Given the description of an element on the screen output the (x, y) to click on. 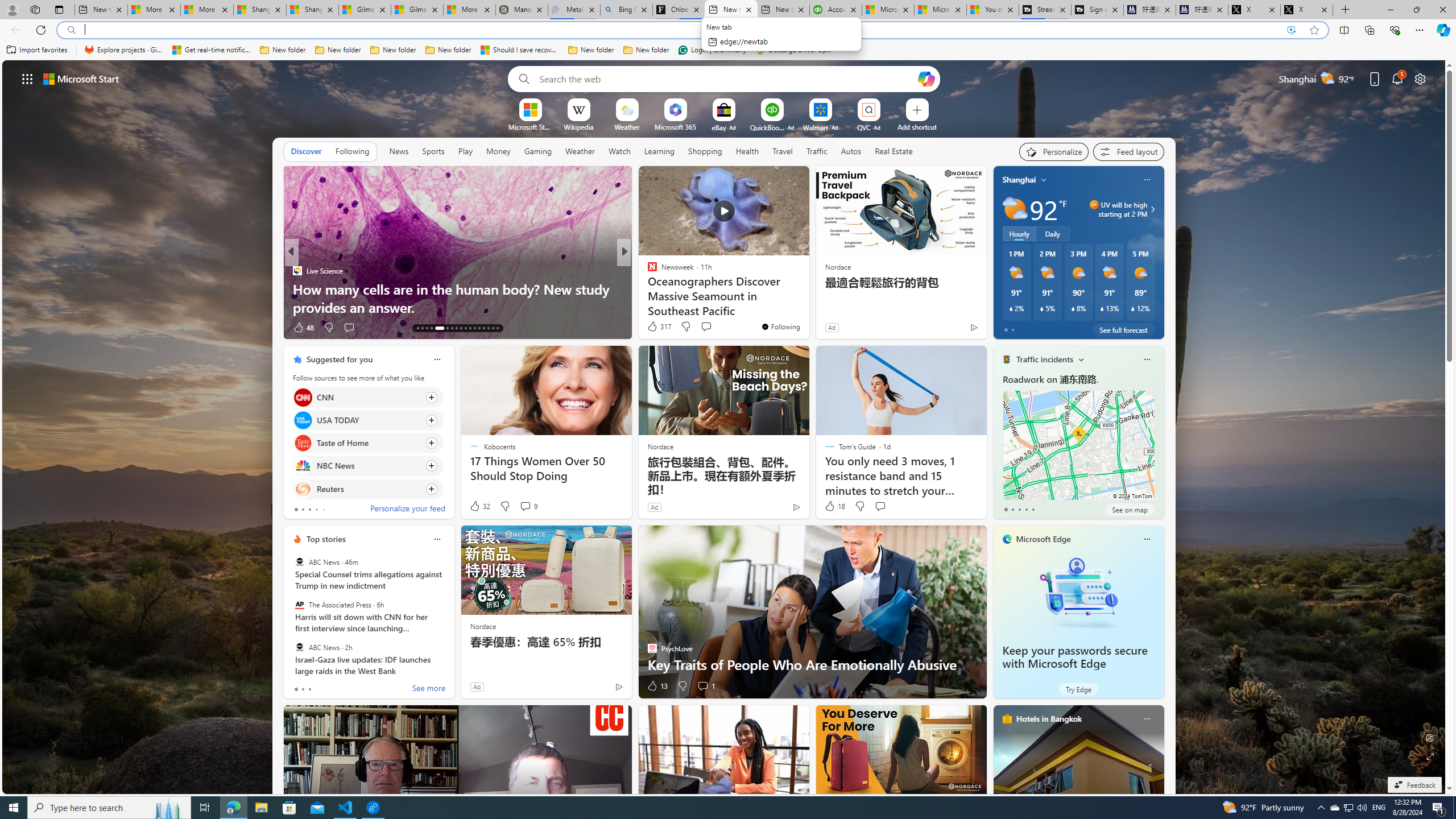
You're following Newsweek (780, 326)
11 Like (652, 327)
Georgia quarterback commit to miss season with knee injury (807, 298)
View comments 14 Comment (703, 327)
Learning (658, 151)
View comments 1 Comment (703, 685)
View comments 5 Comment (698, 327)
Microsoft 365 (675, 126)
32 Like (479, 505)
AutomationID: tab-36 (483, 328)
